Given the description of an element on the screen output the (x, y) to click on. 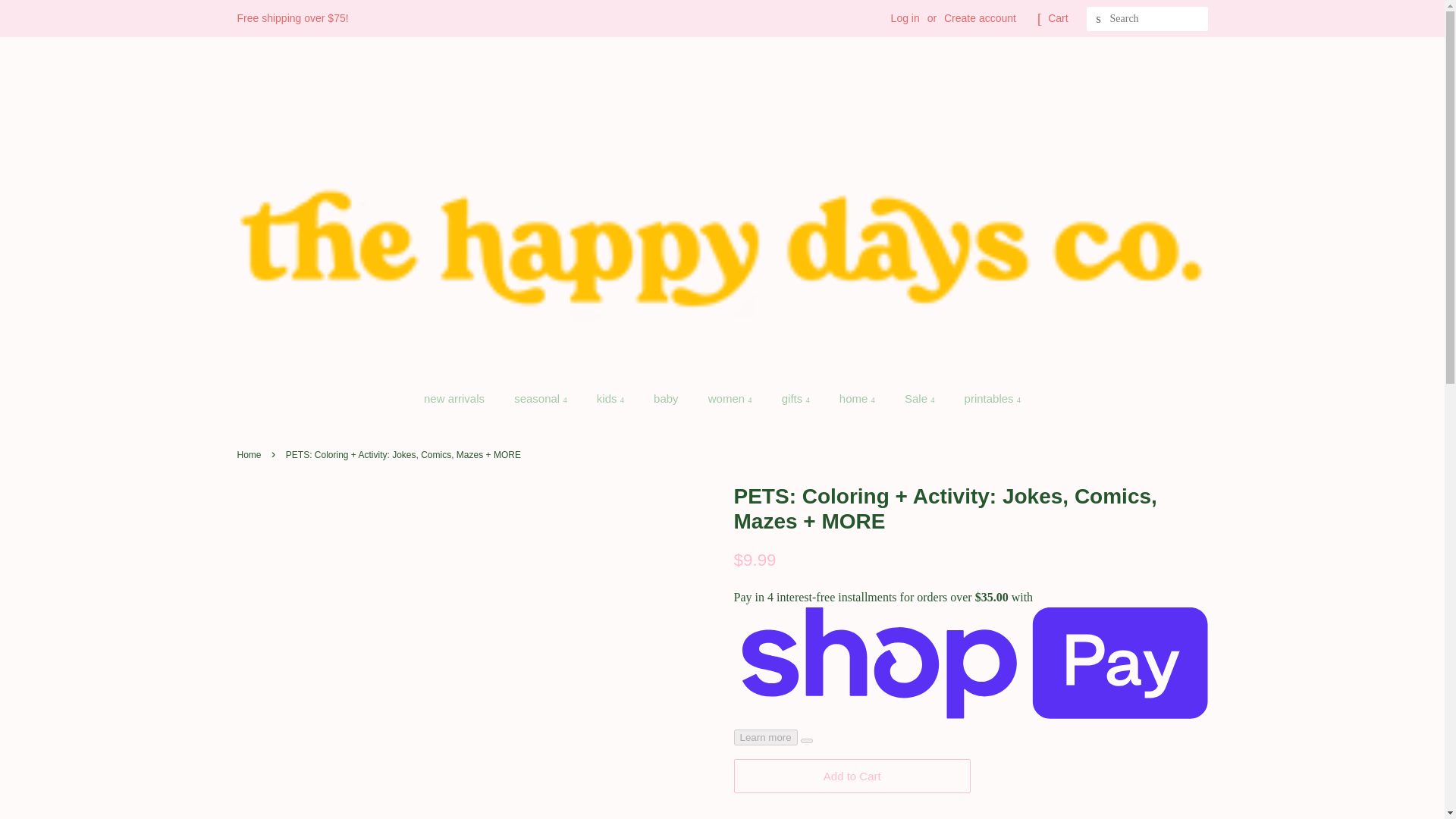
Cart (1057, 18)
Create account (979, 18)
Log in (905, 18)
Back to the frontpage (249, 454)
Search (1097, 18)
